Given the description of an element on the screen output the (x, y) to click on. 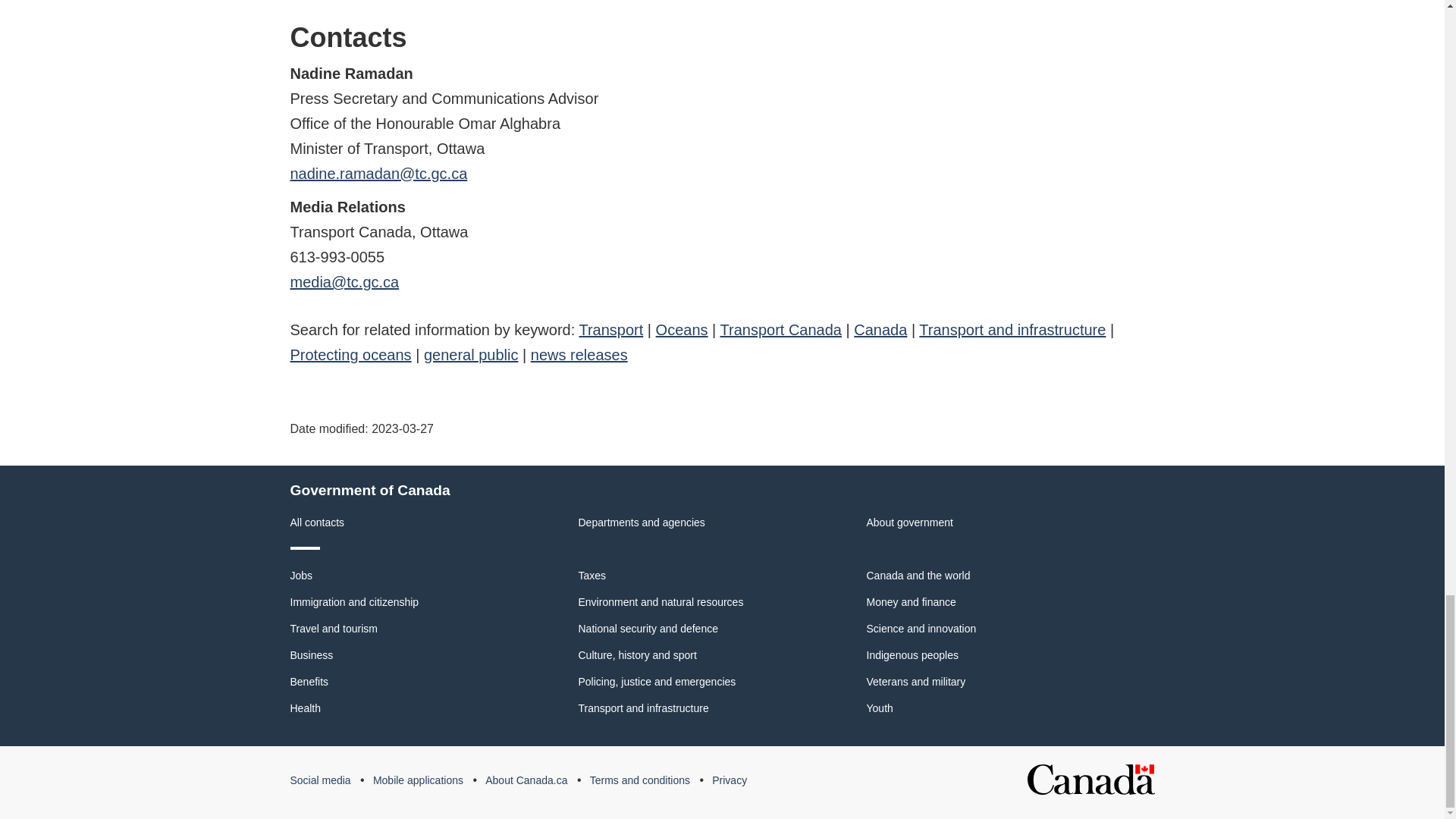
Canada (880, 329)
Oceans (681, 329)
Transport (610, 329)
Transport Canada (780, 329)
